Given the description of an element on the screen output the (x, y) to click on. 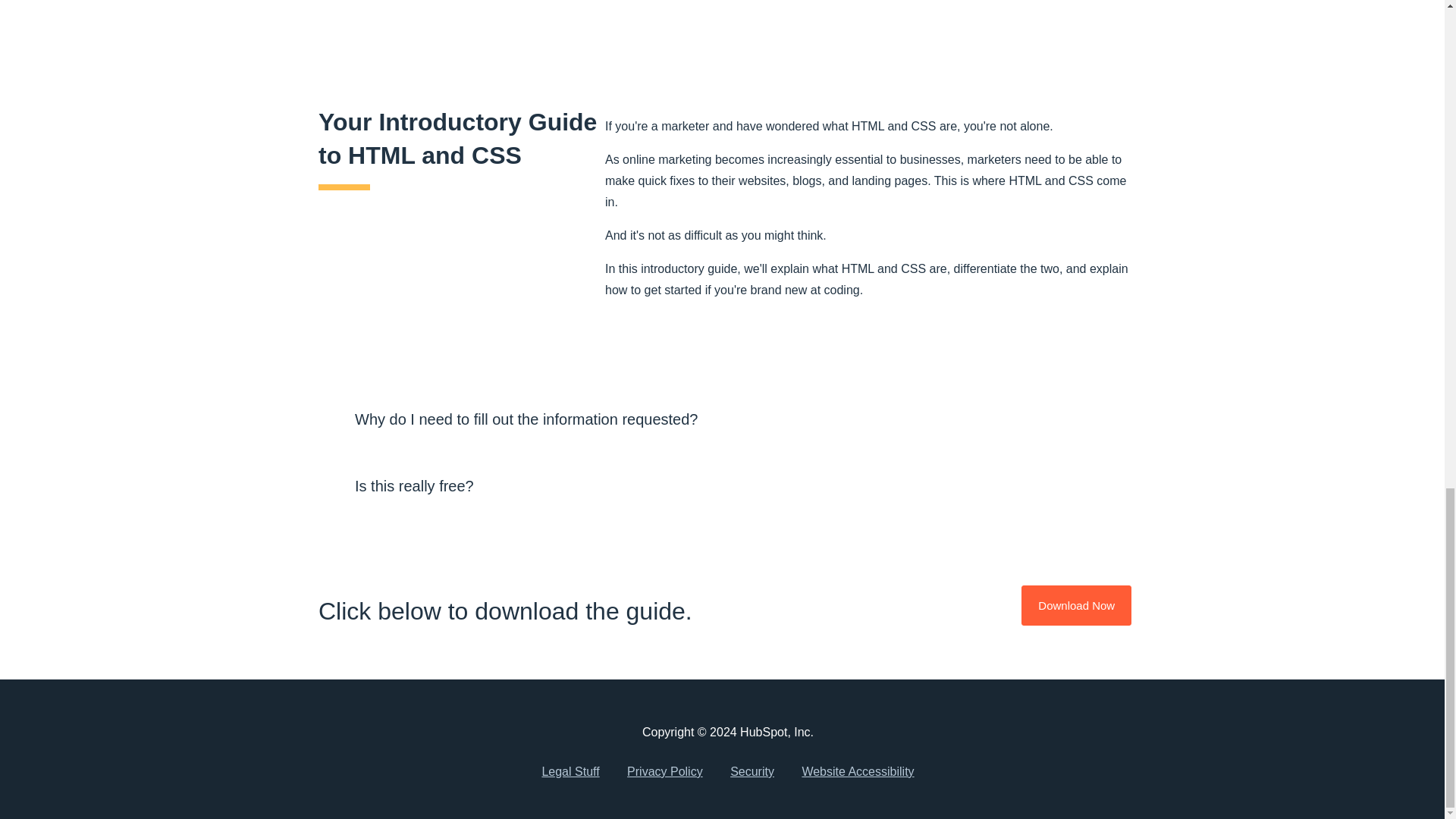
Legal Stuff (570, 771)
Why do I need to fill out the information requested? (727, 418)
Security (751, 771)
Download Now (1076, 605)
Website Accessibility (857, 771)
Privacy Policy (664, 771)
Is this really free? (727, 485)
